Given the description of an element on the screen output the (x, y) to click on. 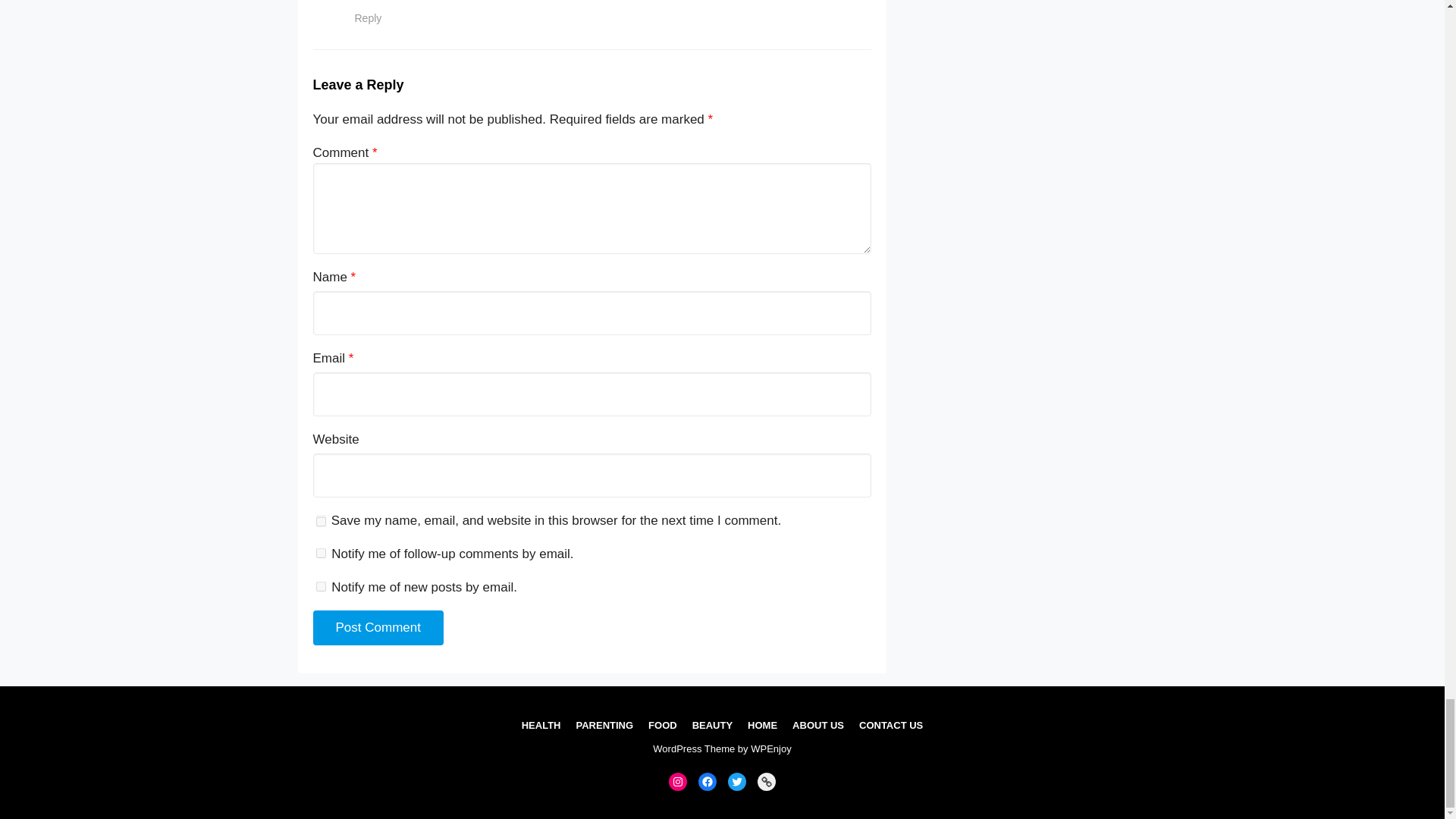
Post Comment (377, 627)
subscribe (319, 552)
subscribe (319, 586)
